Given the description of an element on the screen output the (x, y) to click on. 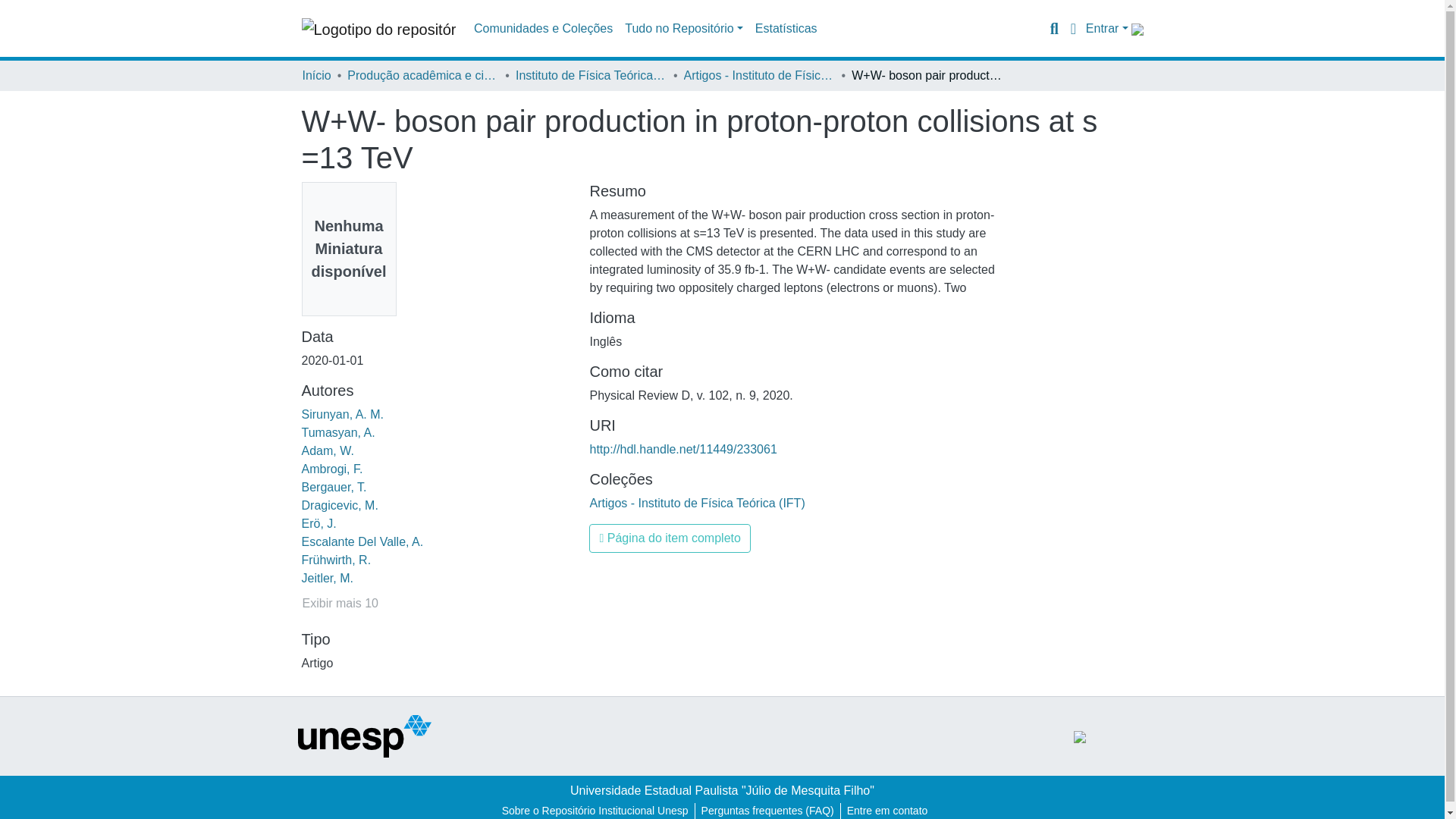
Ambrogi, F. (331, 468)
Bergauer, T. (333, 486)
Adam, W. (327, 450)
Alternar idioma (1073, 28)
Sirunyan, A. M. (342, 413)
Dragicevic, M. (339, 504)
Tumasyan, A. (338, 431)
Jeitler, M. (327, 577)
Exibir mais 10 (339, 603)
Pesquisar (1054, 28)
